Given the description of an element on the screen output the (x, y) to click on. 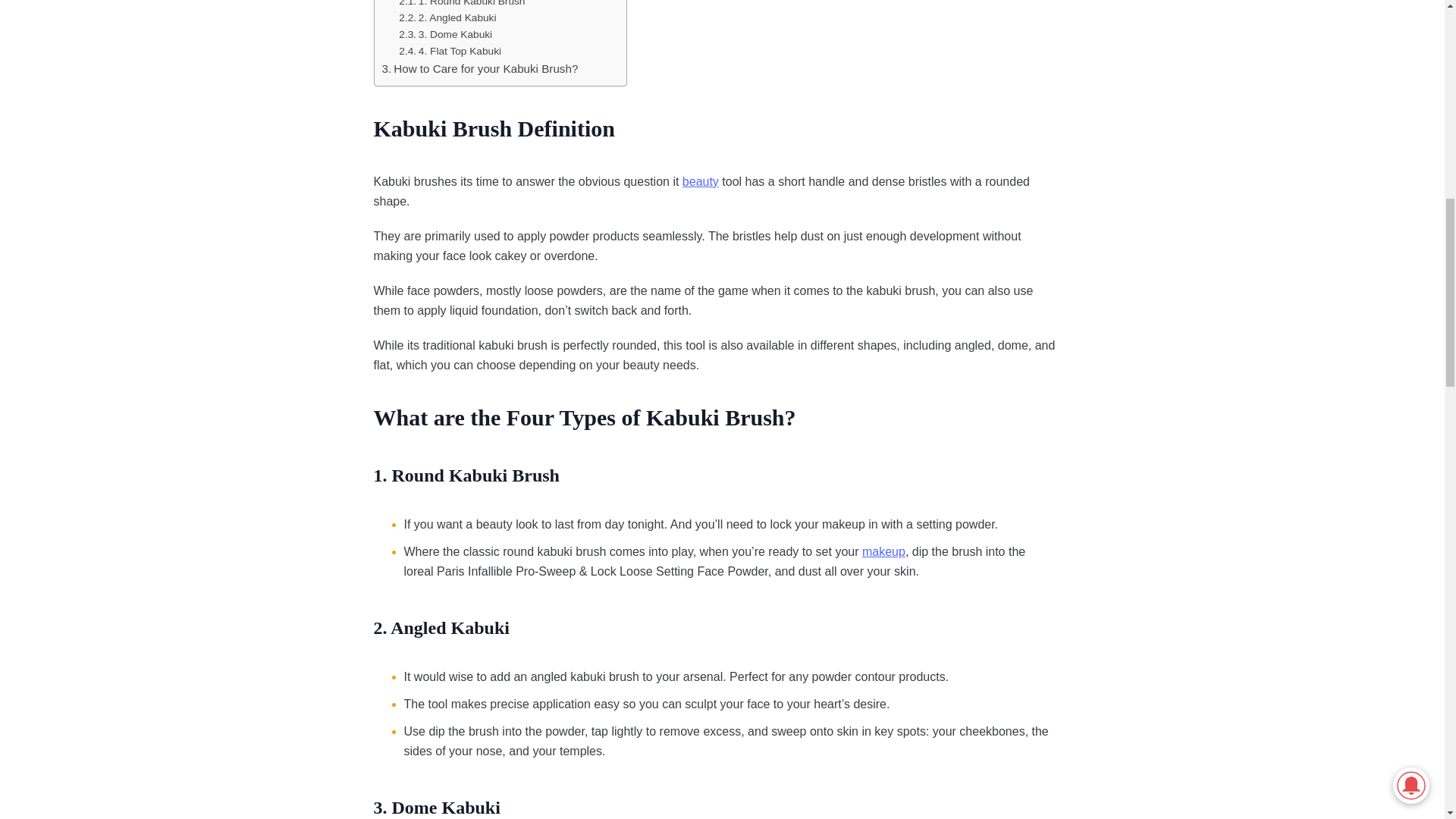
1. Round Kabuki Brush (461, 4)
2. Angled Kabuki (447, 17)
How to Care for your Kabuki Brush? (479, 68)
3. Dome Kabuki (445, 34)
2. Angled Kabuki (447, 17)
1. Round Kabuki Brush (461, 4)
How to Care for your Kabuki Brush? (479, 68)
4. Flat Top Kabuki (449, 51)
makeup (883, 551)
beauty (700, 181)
3. Dome Kabuki (445, 34)
4. Flat Top Kabuki (449, 51)
